Given the description of an element on the screen output the (x, y) to click on. 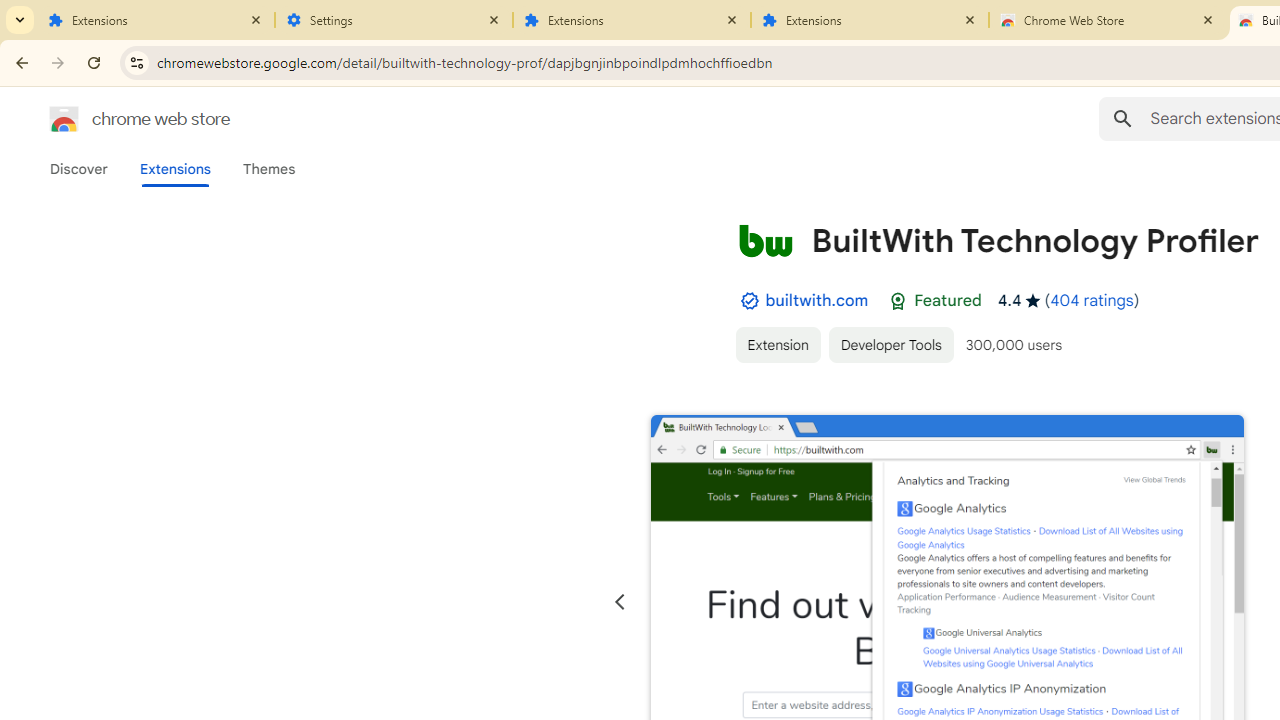
By Established Publisher Badge (749, 301)
Extension (777, 344)
builtwith.com (817, 300)
Featured Badge (898, 301)
Settings (394, 20)
Chrome Web Store logo (63, 118)
Extensions (156, 20)
